Given the description of an element on the screen output the (x, y) to click on. 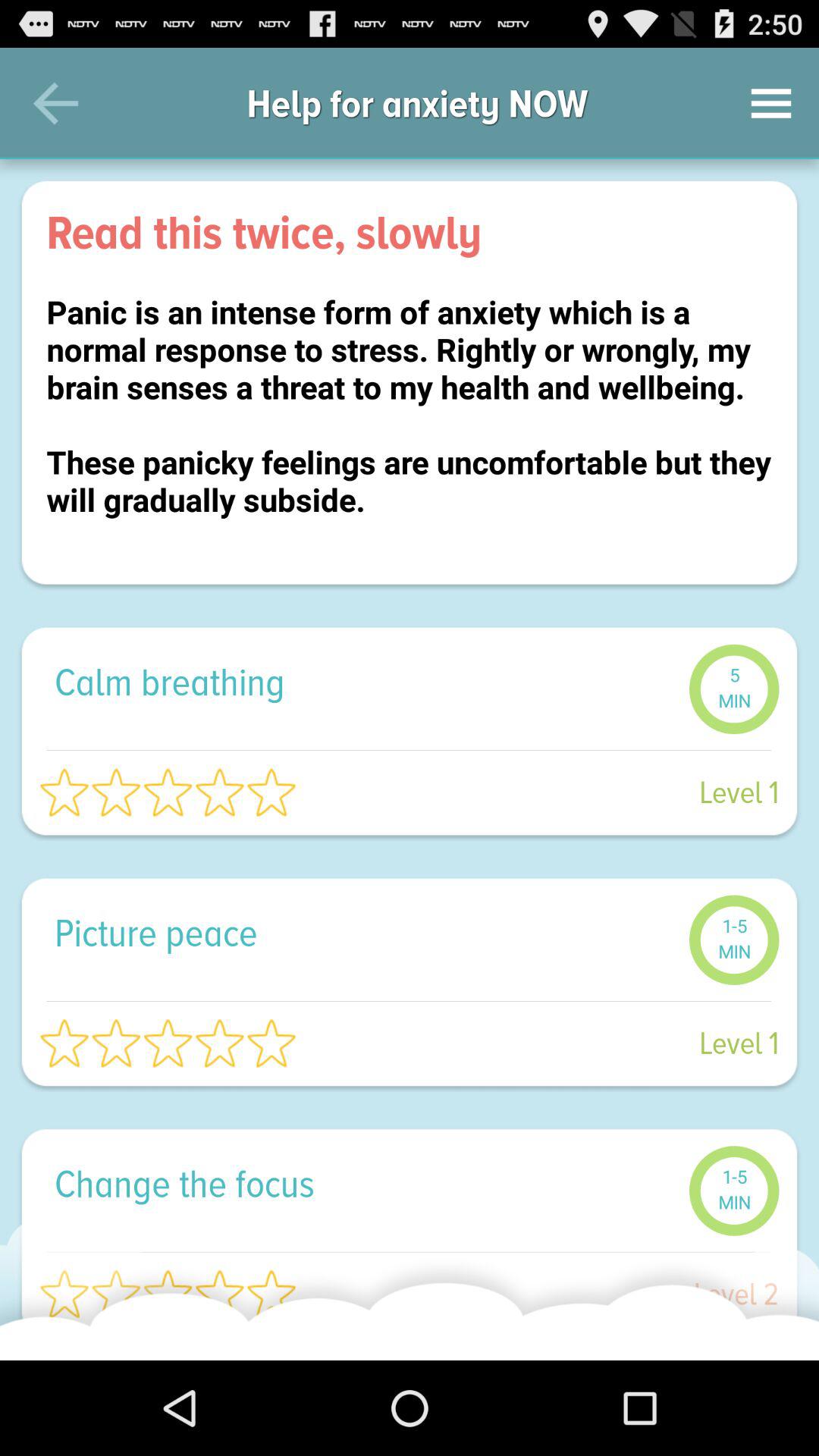
tap the icon at the top left corner (55, 103)
